Given the description of an element on the screen output the (x, y) to click on. 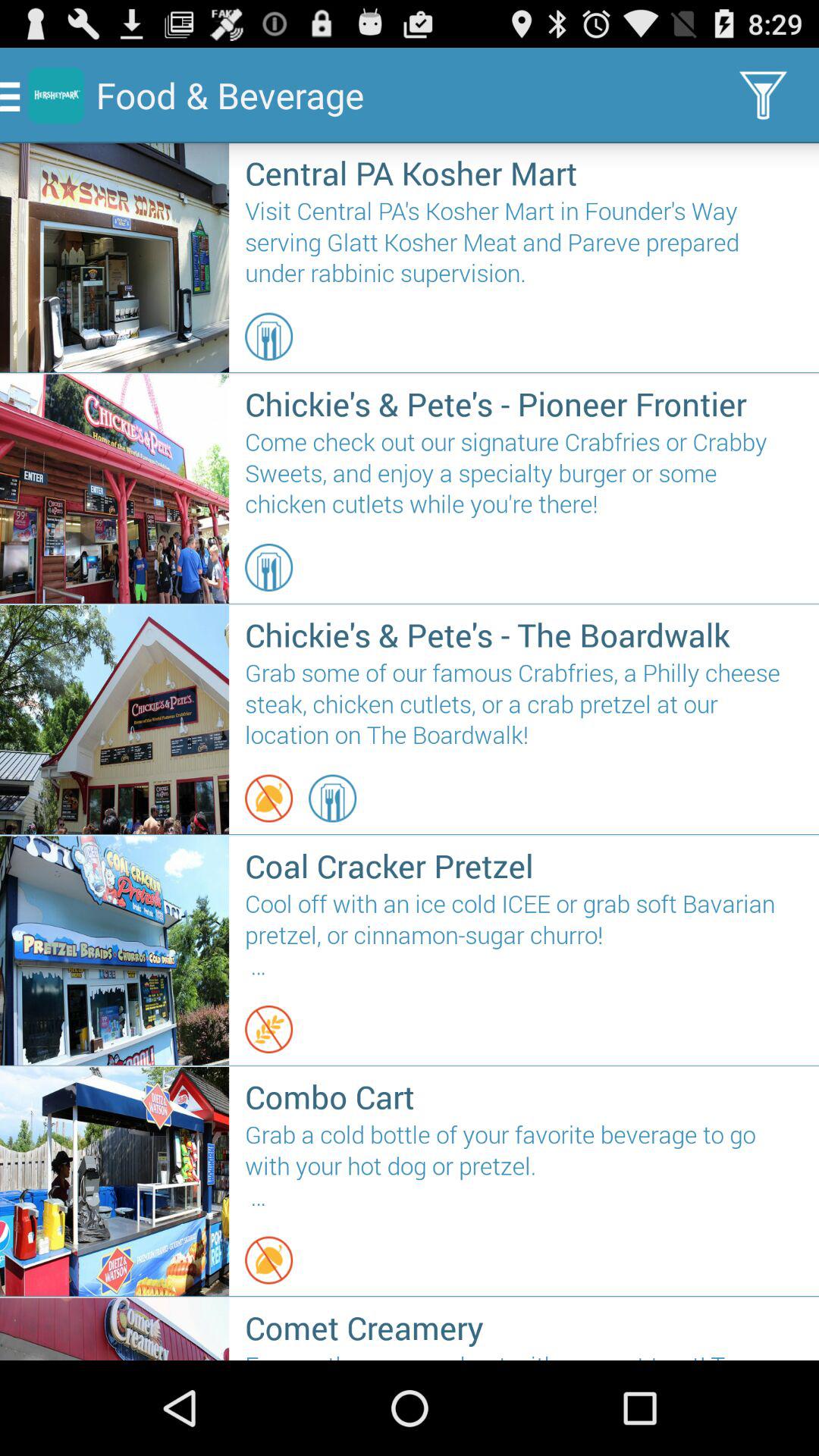
press escape the summer item (524, 1354)
